Given the description of an element on the screen output the (x, y) to click on. 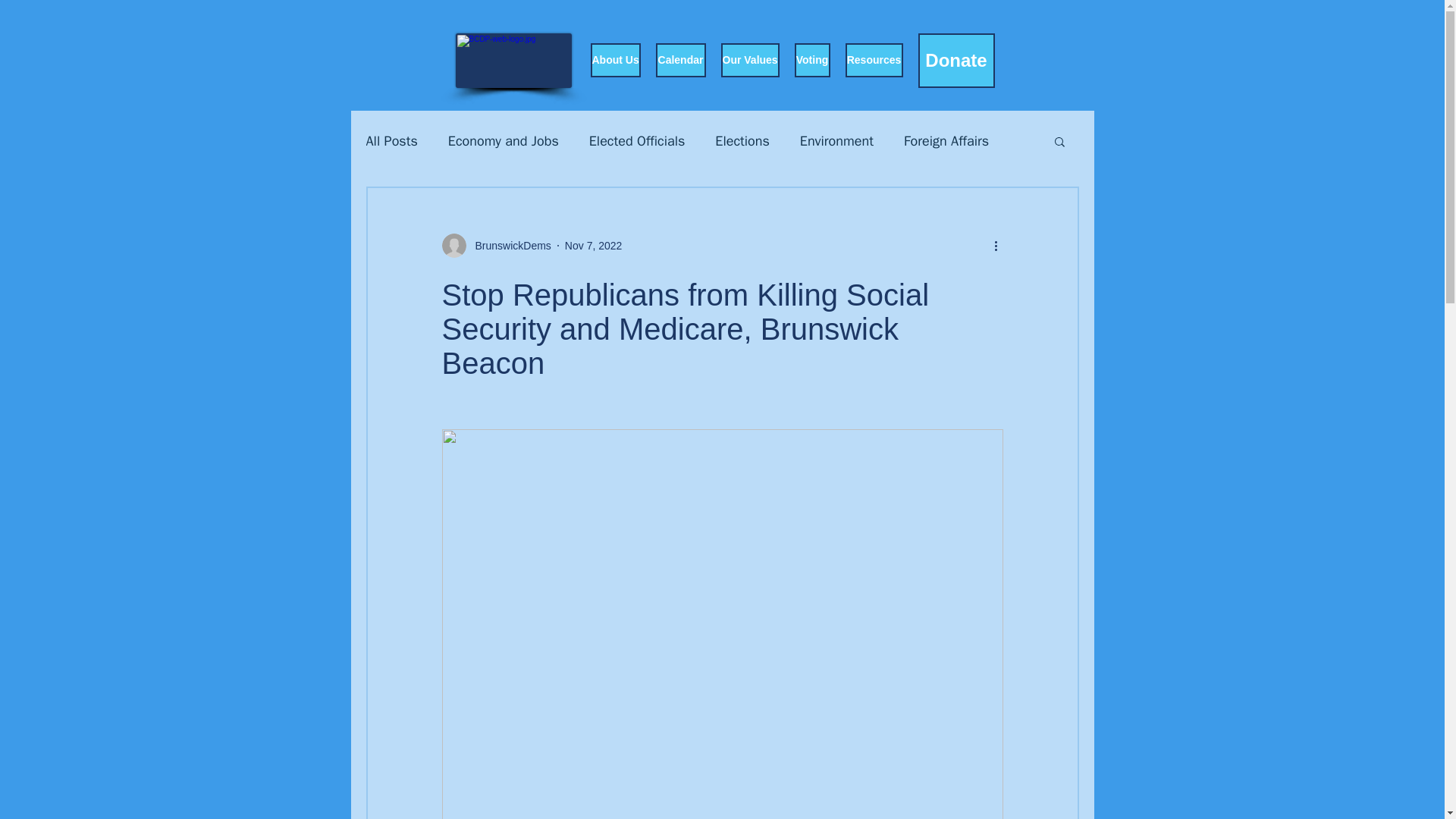
Calendar (679, 59)
Elections (742, 140)
About Us (614, 59)
Elected Officials (637, 140)
Foreign Affairs (946, 140)
Our Values (749, 59)
Environment (836, 140)
Donate (955, 60)
All Posts (390, 140)
Nov 7, 2022 (593, 245)
